Given the description of an element on the screen output the (x, y) to click on. 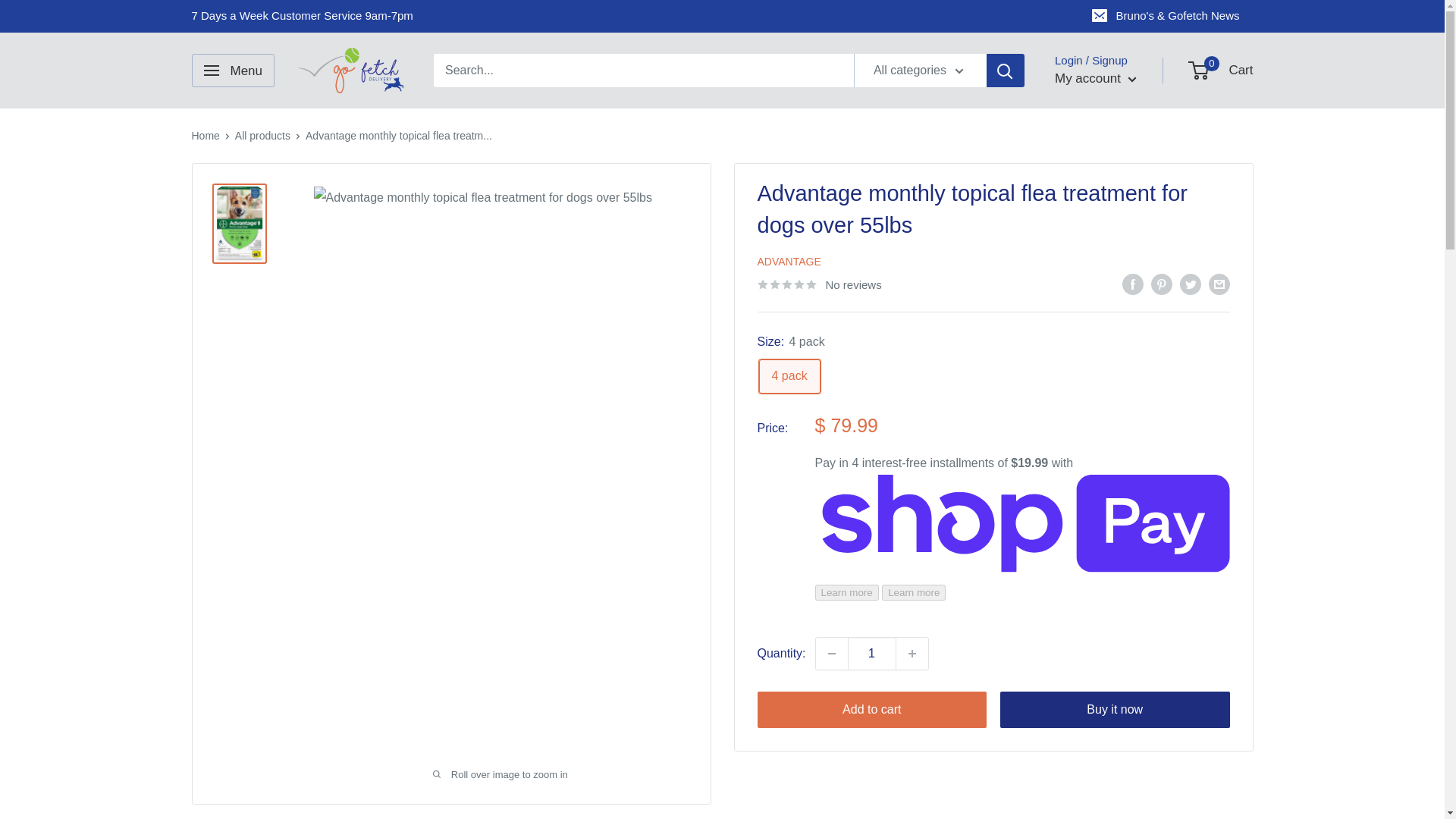
Increase quantity by 1 (912, 653)
Decrease quantity by 1 (831, 653)
1 (871, 653)
4 pack (788, 376)
